Given the description of an element on the screen output the (x, y) to click on. 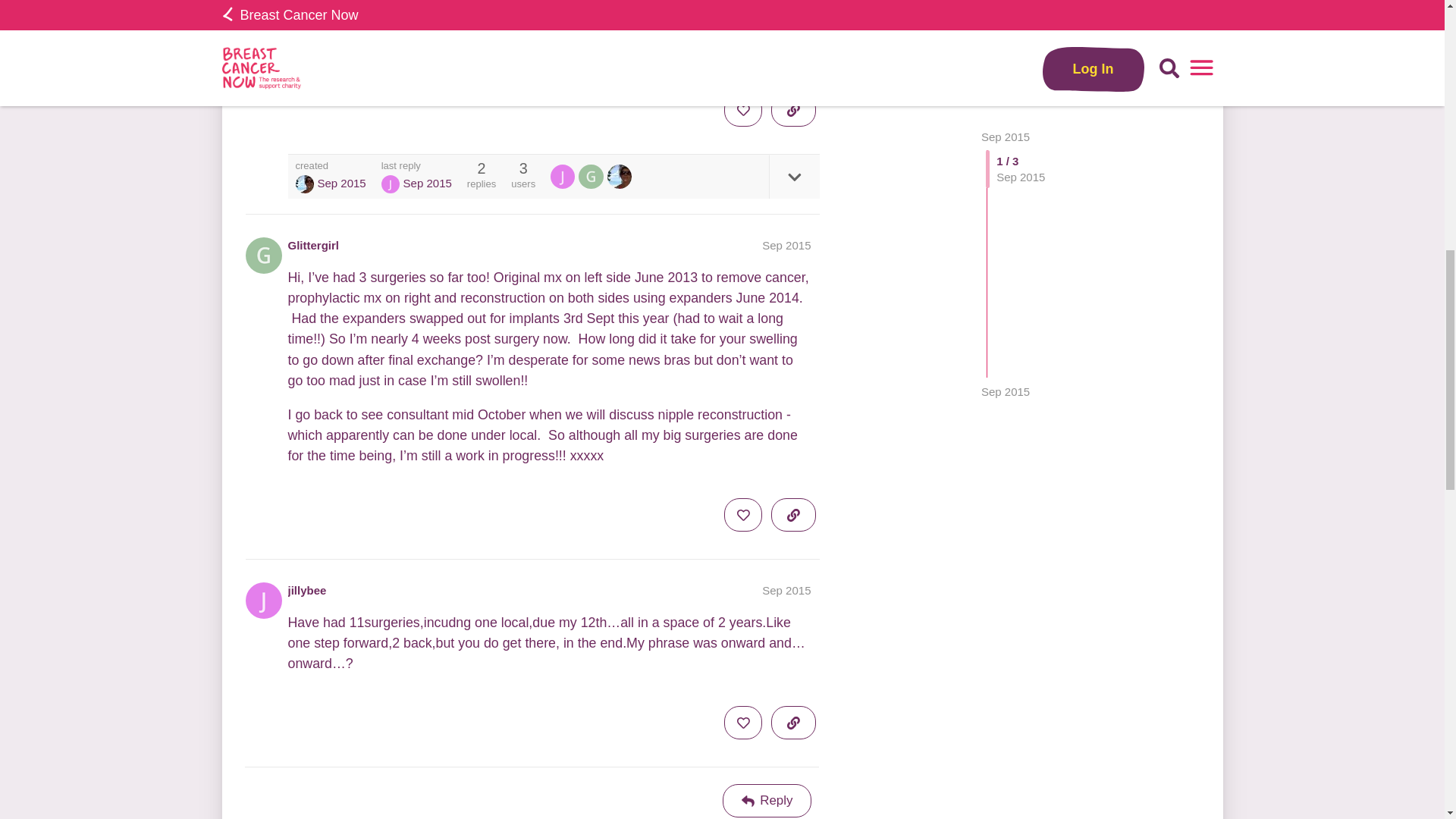
Sep 2015 (1005, 65)
like this post (742, 109)
expand topic details (793, 176)
last reply (416, 165)
Glittergirl (313, 245)
rosie14 (304, 184)
jillybee (562, 176)
25 Sep 2015 22:10 (1005, 65)
Sep 2015 (785, 590)
Glittergirl (592, 176)
copy a link to this post to clipboard (793, 109)
jillybee (389, 184)
Sep 2015 (785, 245)
25 Sep 2015 22:10 (427, 182)
Reply (767, 800)
